Given the description of an element on the screen output the (x, y) to click on. 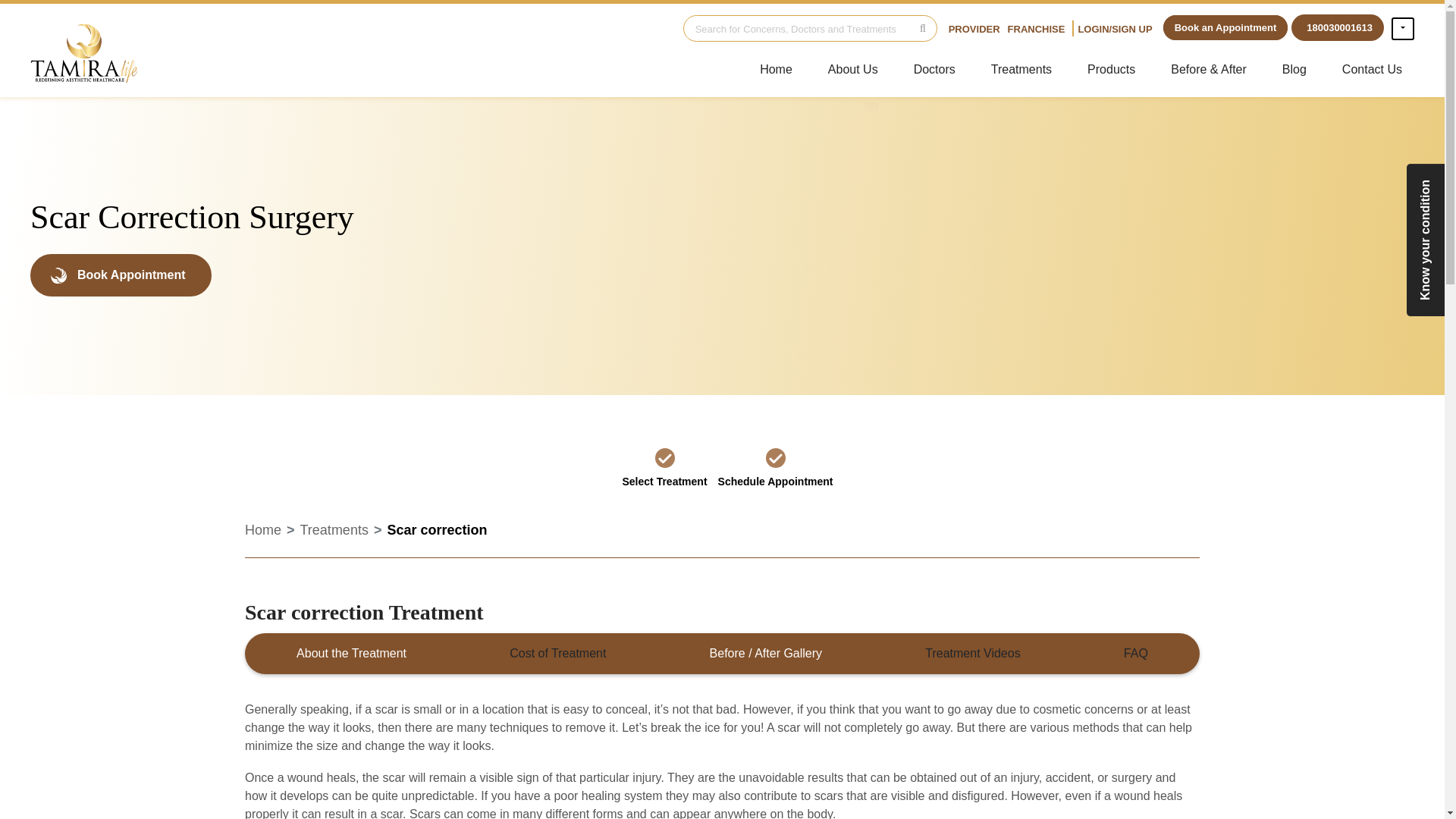
Select Treatment (663, 467)
Treatments (333, 529)
Home (262, 529)
About Us (852, 69)
Contact Us (1371, 69)
FRANCHISE (1036, 29)
Products (1111, 69)
180030001613 (1337, 27)
Book Appointment (120, 274)
Treatments (1021, 69)
Home (776, 69)
PROVIDER (974, 29)
Book an Appointment (1225, 27)
Doctors (934, 69)
